Given the description of an element on the screen output the (x, y) to click on. 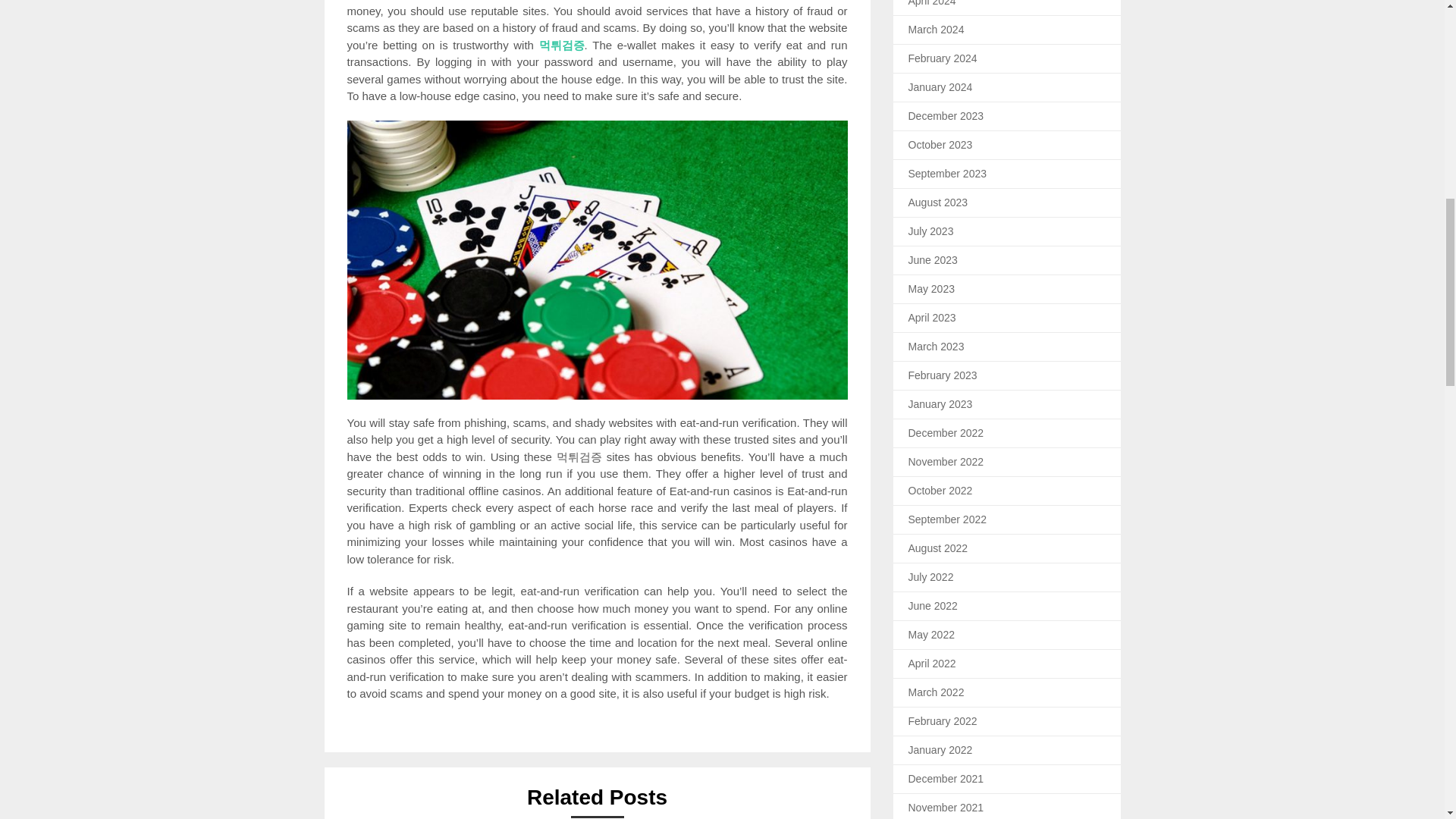
June 2023 (933, 259)
March 2024 (935, 28)
February 2024 (942, 57)
May 2023 (931, 287)
December 2023 (946, 114)
January 2023 (940, 403)
April 2023 (932, 316)
December 2022 (946, 431)
September 2023 (947, 173)
October 2023 (940, 143)
August 2023 (938, 201)
July 2023 (930, 230)
January 2024 (940, 86)
March 2023 (935, 345)
February 2023 (942, 374)
